Given the description of an element on the screen output the (x, y) to click on. 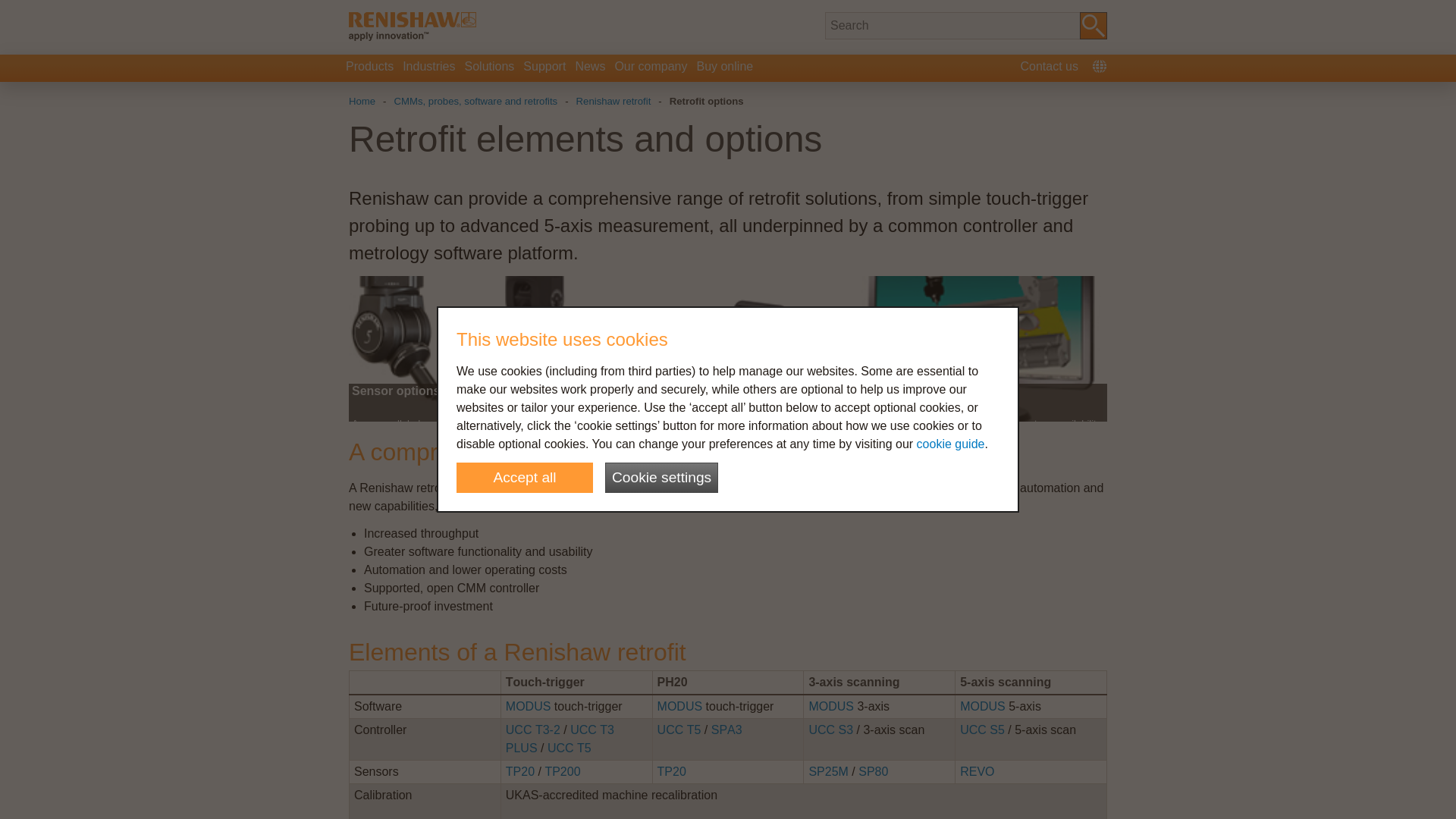
MODUS (680, 706)
TP20 (671, 771)
UCC T5 (569, 748)
SPA3 (726, 729)
TP200 (561, 771)
UCC S5 (981, 729)
MODUS (982, 706)
Solutions (489, 67)
Products (368, 67)
MODUS (830, 706)
UCC T5 (679, 729)
SP25M (827, 771)
UCC T3-2 (532, 729)
UCC T3 PLUS (559, 738)
Industries (428, 67)
